Given the description of an element on the screen output the (x, y) to click on. 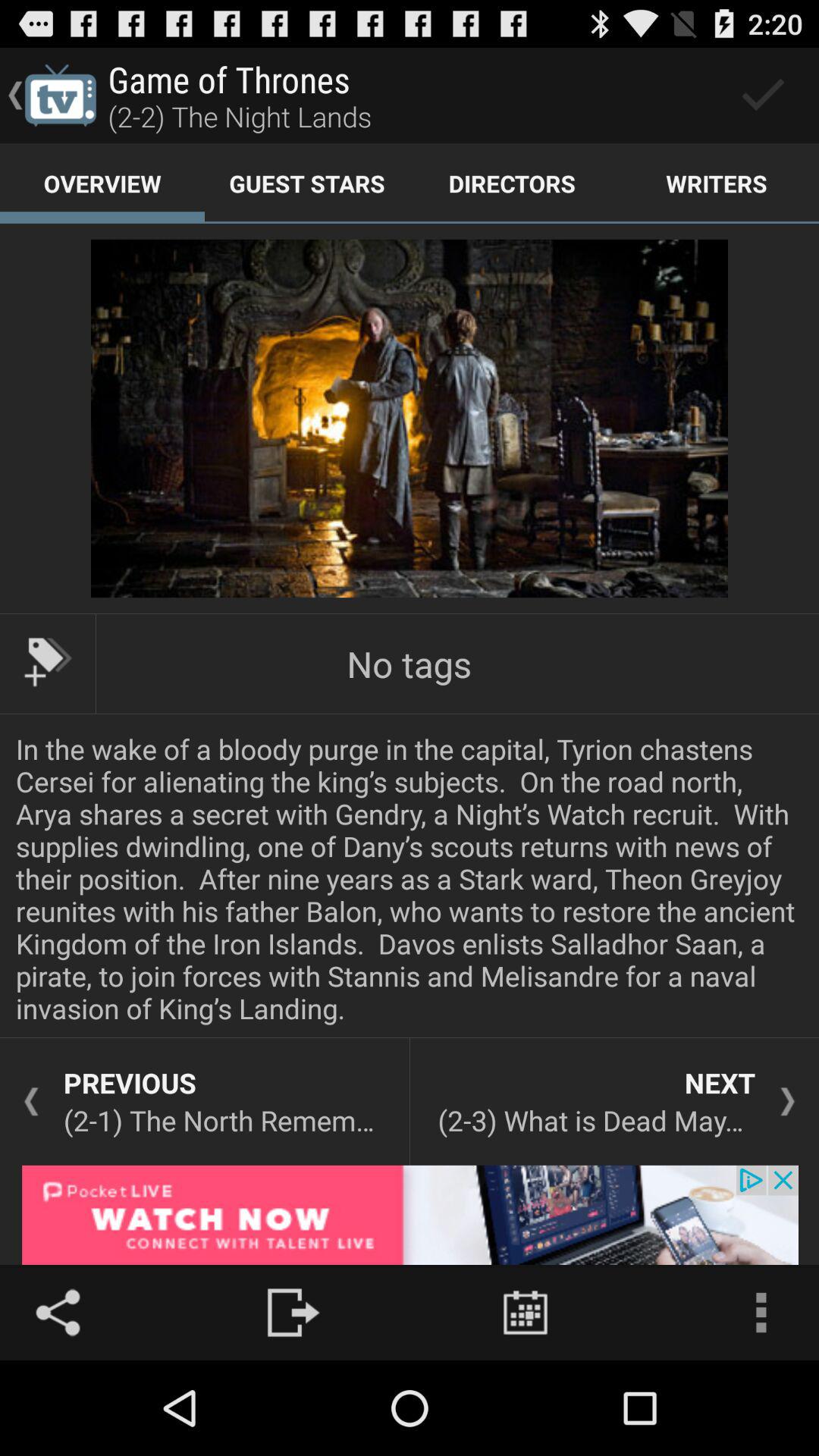
toggle tags (47, 661)
